Given the description of an element on the screen output the (x, y) to click on. 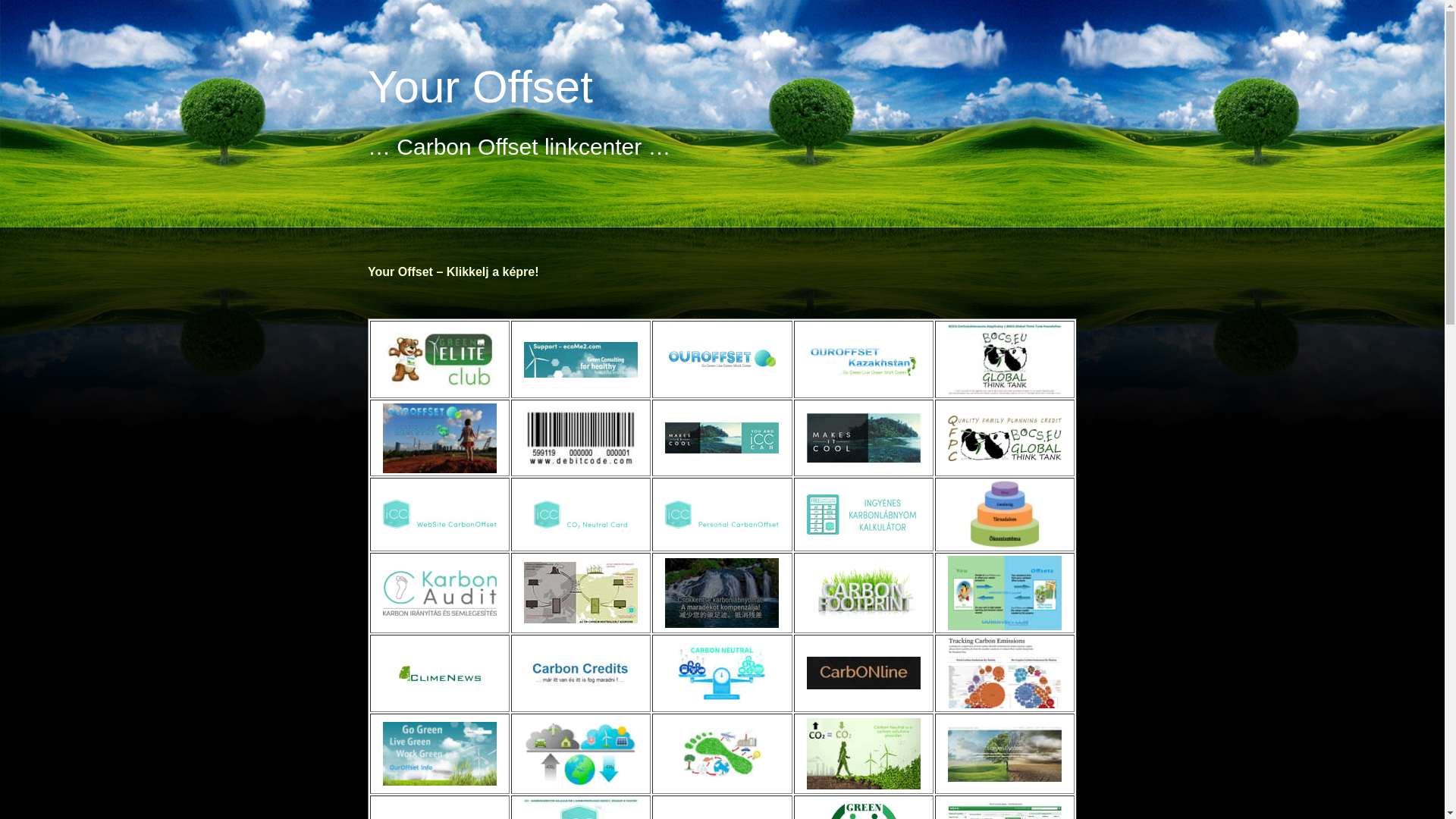
iCC-- You and iCC - makes it cool Element type: hover (721, 437)
Your Offset Element type: text (480, 86)
Voluntary Carbon Registry Element type: hover (439, 438)
DebitCode check! Element type: hover (580, 437)
OurOffset Ltd. Element type: hover (721, 359)
Karbonsemleges Weboldal Element type: hover (439, 513)
OurOffset Kazakhstan Element type: hover (863, 359)
NewsLetter OurOffset.Info >> Element type: hover (439, 753)
